Given the description of an element on the screen output the (x, y) to click on. 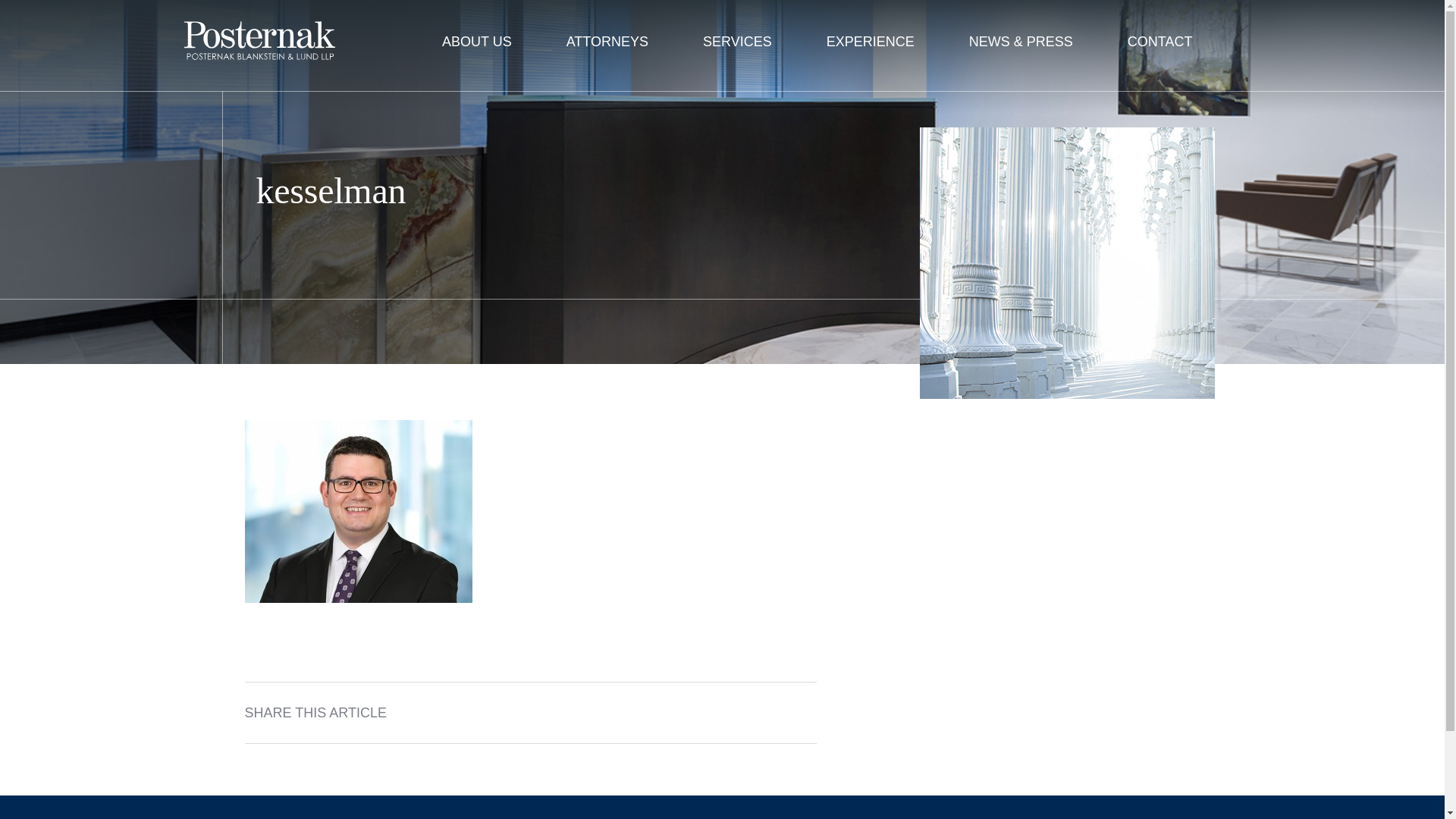
EXPERIENCE (870, 42)
SERVICES (737, 42)
ABOUT US (476, 42)
ATTORNEYS (606, 42)
CONTACT (1160, 42)
